Given the description of an element on the screen output the (x, y) to click on. 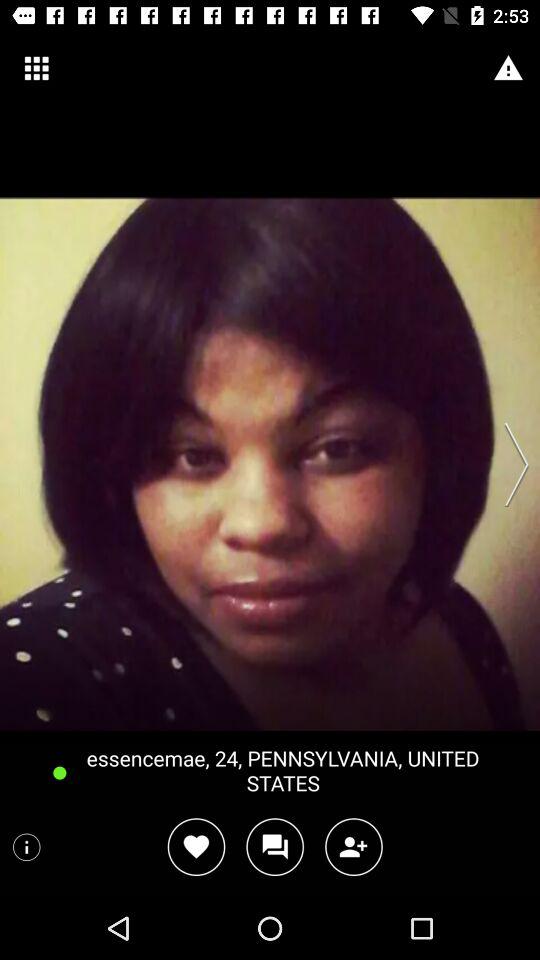
go next page (510, 464)
